Given the description of an element on the screen output the (x, y) to click on. 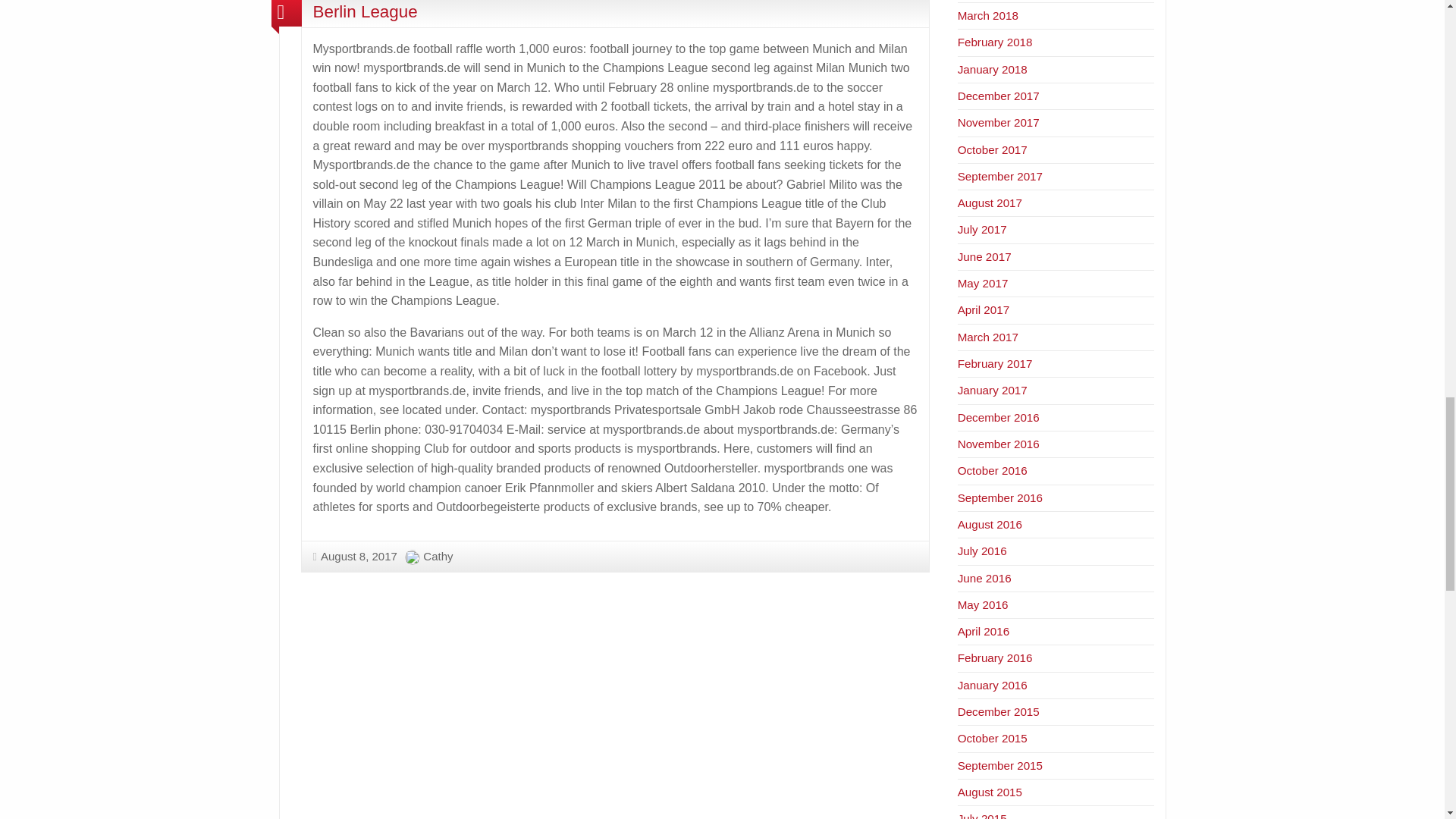
Berlin League (364, 11)
Cathy (437, 555)
August 8, 2017 (354, 555)
